Given the description of an element on the screen output the (x, y) to click on. 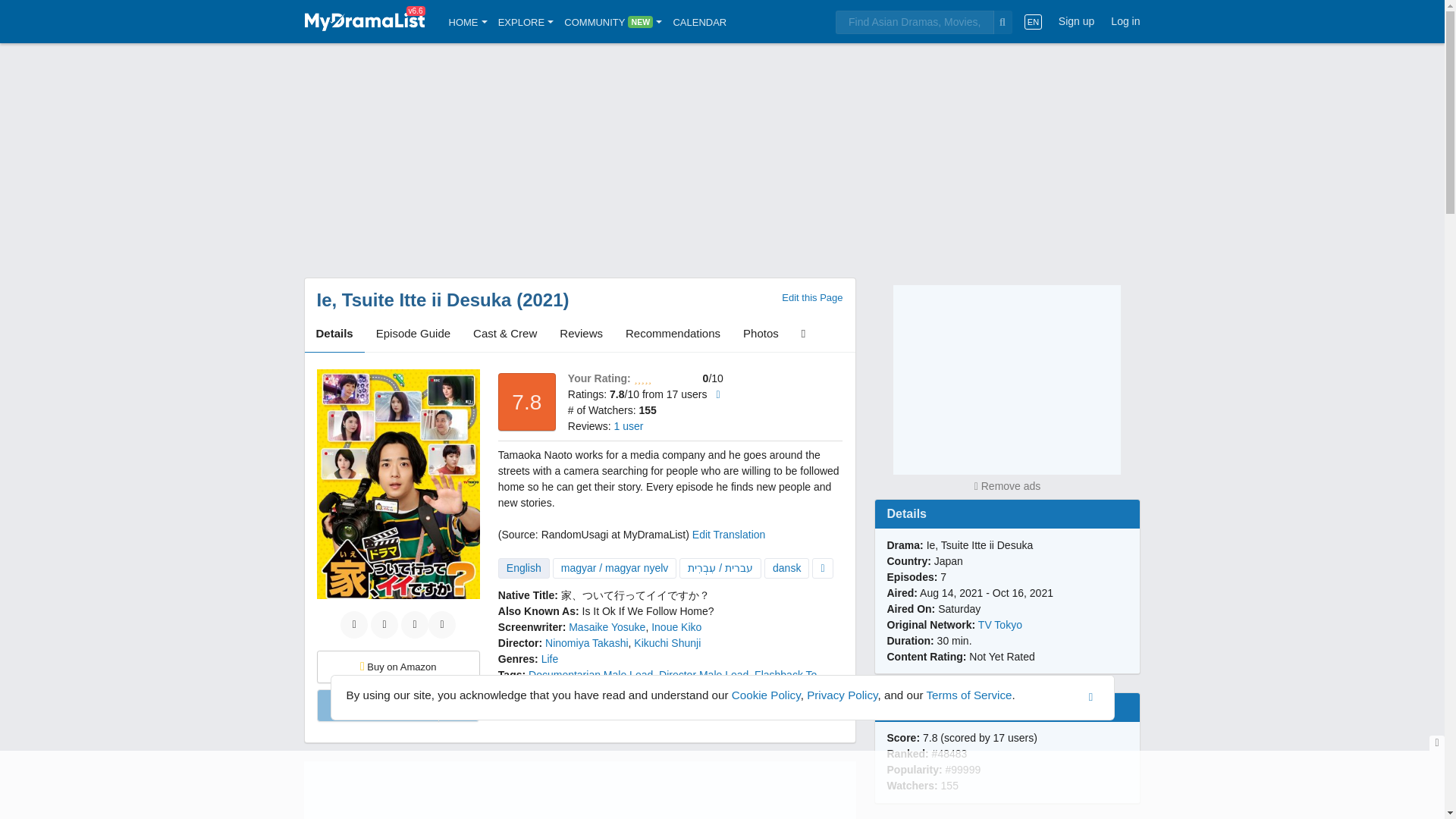
Ie, Tsuite Itte ii Desuka (414, 299)
Is It Ok If We Follow Home? (648, 611)
v6.6 (364, 21)
HOME (467, 21)
